Given the description of an element on the screen output the (x, y) to click on. 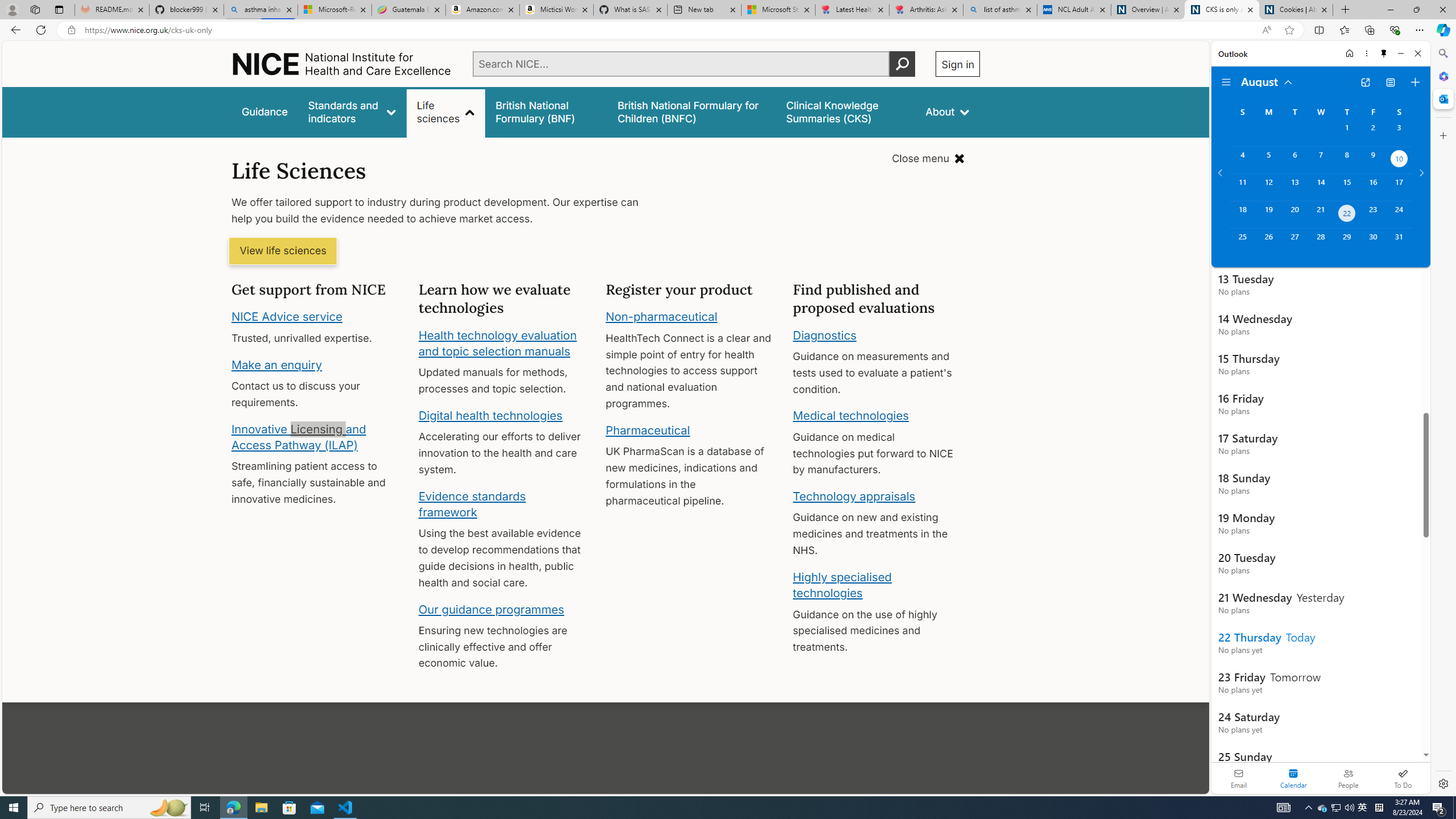
Sunday, August 25, 2024.  (1242, 241)
Evidence standards framework (471, 503)
Close menu (927, 159)
Monday, August 26, 2024.  (1268, 241)
Wednesday, August 21, 2024.  (1320, 214)
Cookies | About | NICE (1295, 9)
Guidance (264, 111)
British National Formulary for Children (BNFC) (691, 111)
Address and search bar (669, 29)
More options (1366, 53)
Monday, August 12, 2024.  (1268, 186)
Close Customize pane (1442, 135)
